Given the description of an element on the screen output the (x, y) to click on. 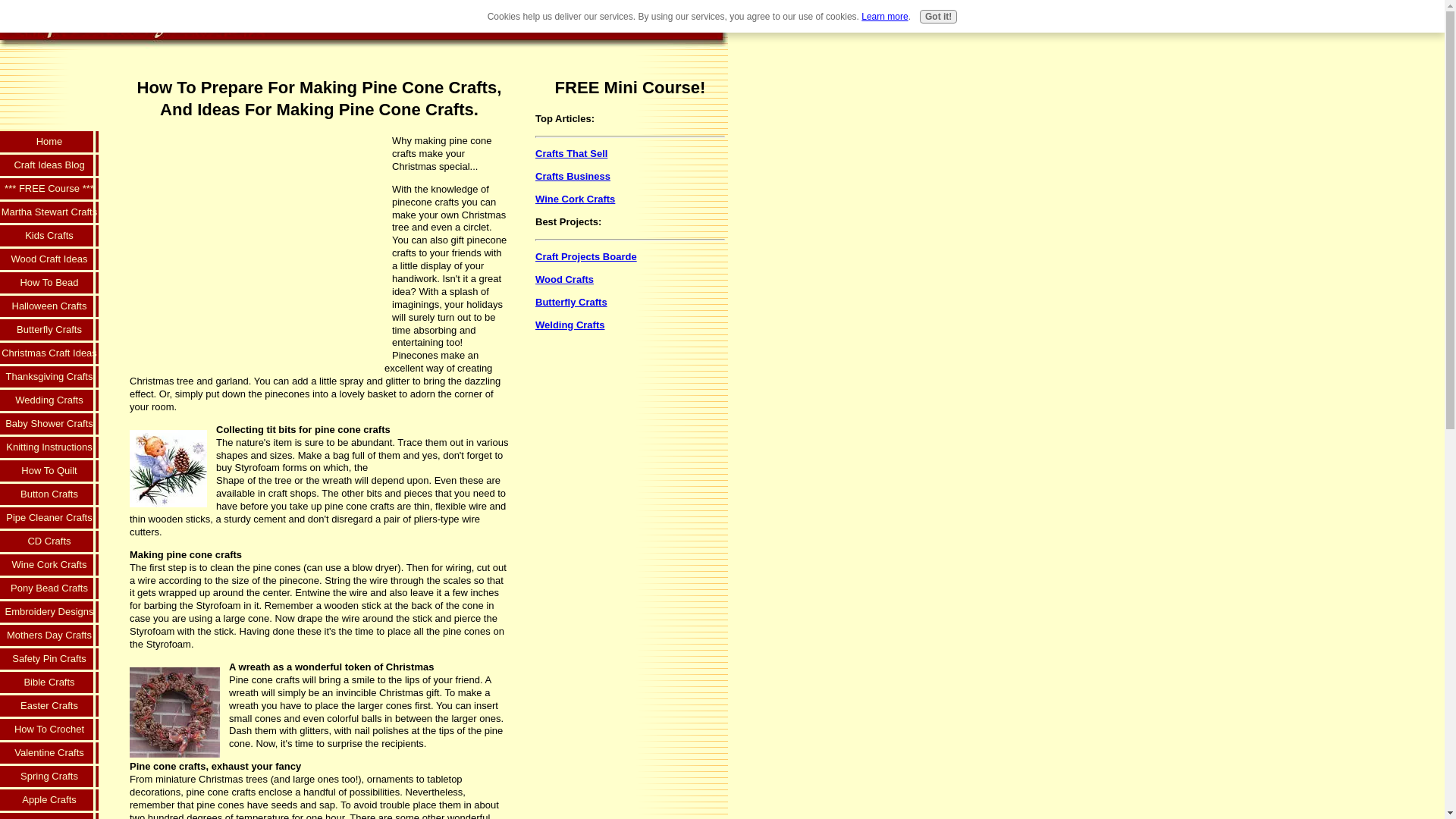
Butterfly Crafts (49, 331)
Thanksgiving Crafts (49, 377)
Baby Shower Crafts (49, 424)
Home (49, 142)
Apple Crafts (49, 801)
making pine cone crafts (167, 467)
Safety Pin Crafts (49, 659)
Halloween Crafts (49, 307)
pinecone crafts (174, 712)
Mothers Day Crafts (49, 636)
How To Crochet (49, 730)
Bible Crafts (49, 683)
Valentine Crafts (49, 753)
Martha Stewart Crafts (49, 213)
Advertisement (48, 84)
